Given the description of an element on the screen output the (x, y) to click on. 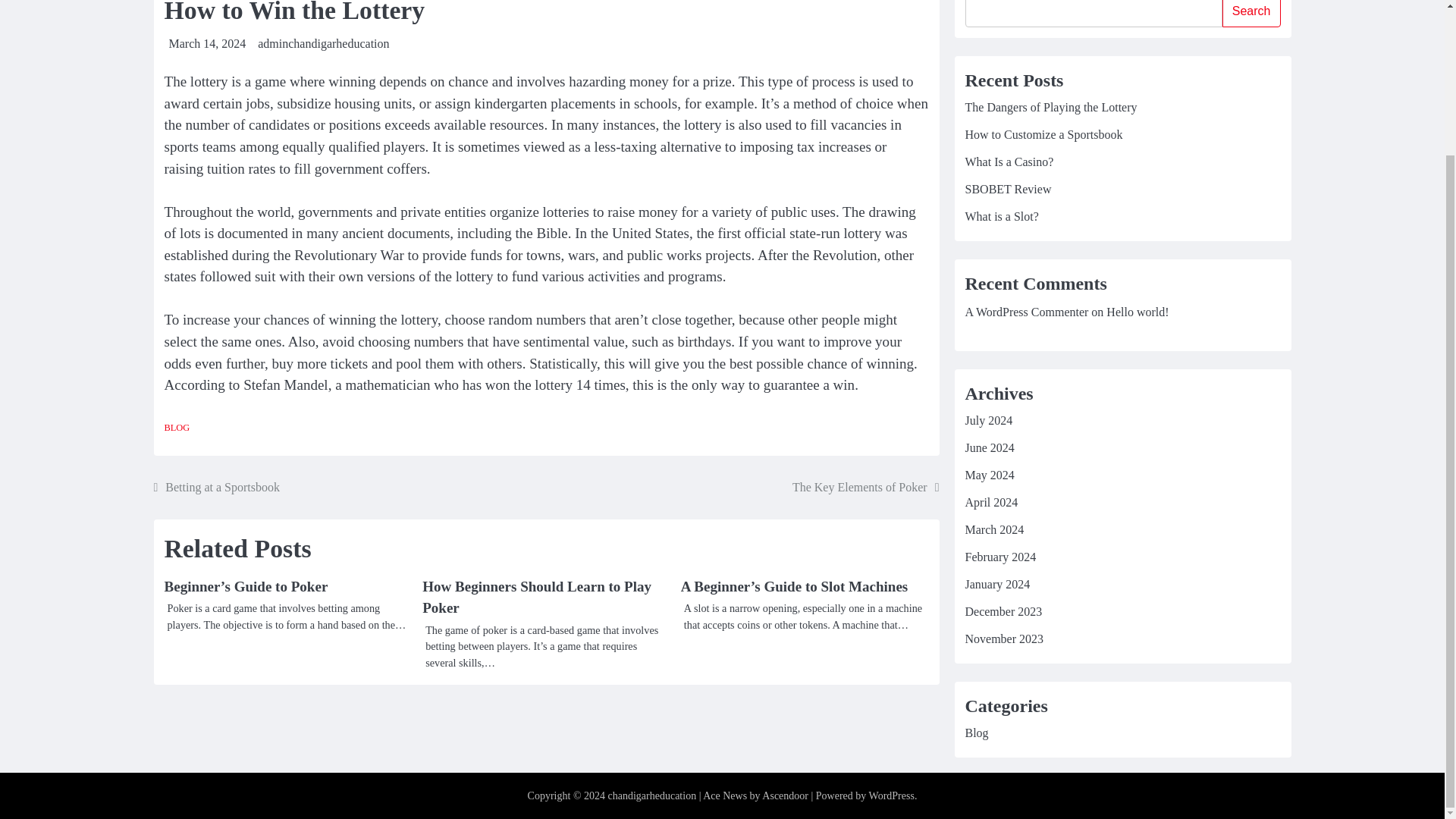
The Key Elements of Poker (865, 487)
How to Customize a Sportsbook (1042, 133)
Hello world! (1137, 311)
adminchandigarheducation (322, 42)
February 2024 (999, 556)
How Beginners Should Learn to Play Poker (536, 597)
What Is a Casino? (1007, 161)
Betting at a Sportsbook (215, 487)
November 2023 (1003, 638)
January 2024 (996, 584)
Search (1252, 13)
BLOG (176, 427)
March 14, 2024 (207, 42)
What is a Slot? (1000, 215)
July 2024 (987, 420)
